Given the description of an element on the screen output the (x, y) to click on. 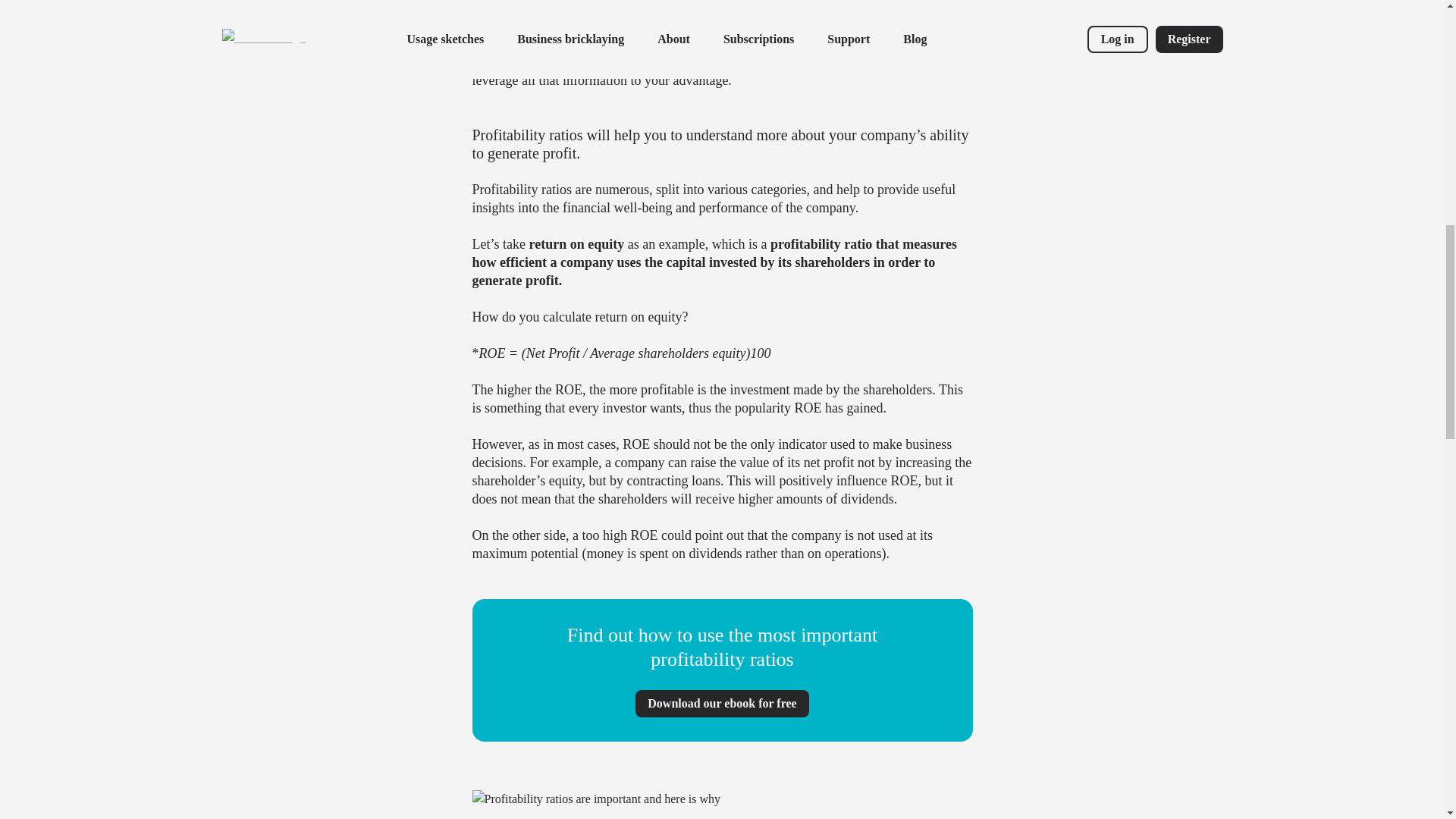
Download our ebook for free (721, 703)
